Given the description of an element on the screen output the (x, y) to click on. 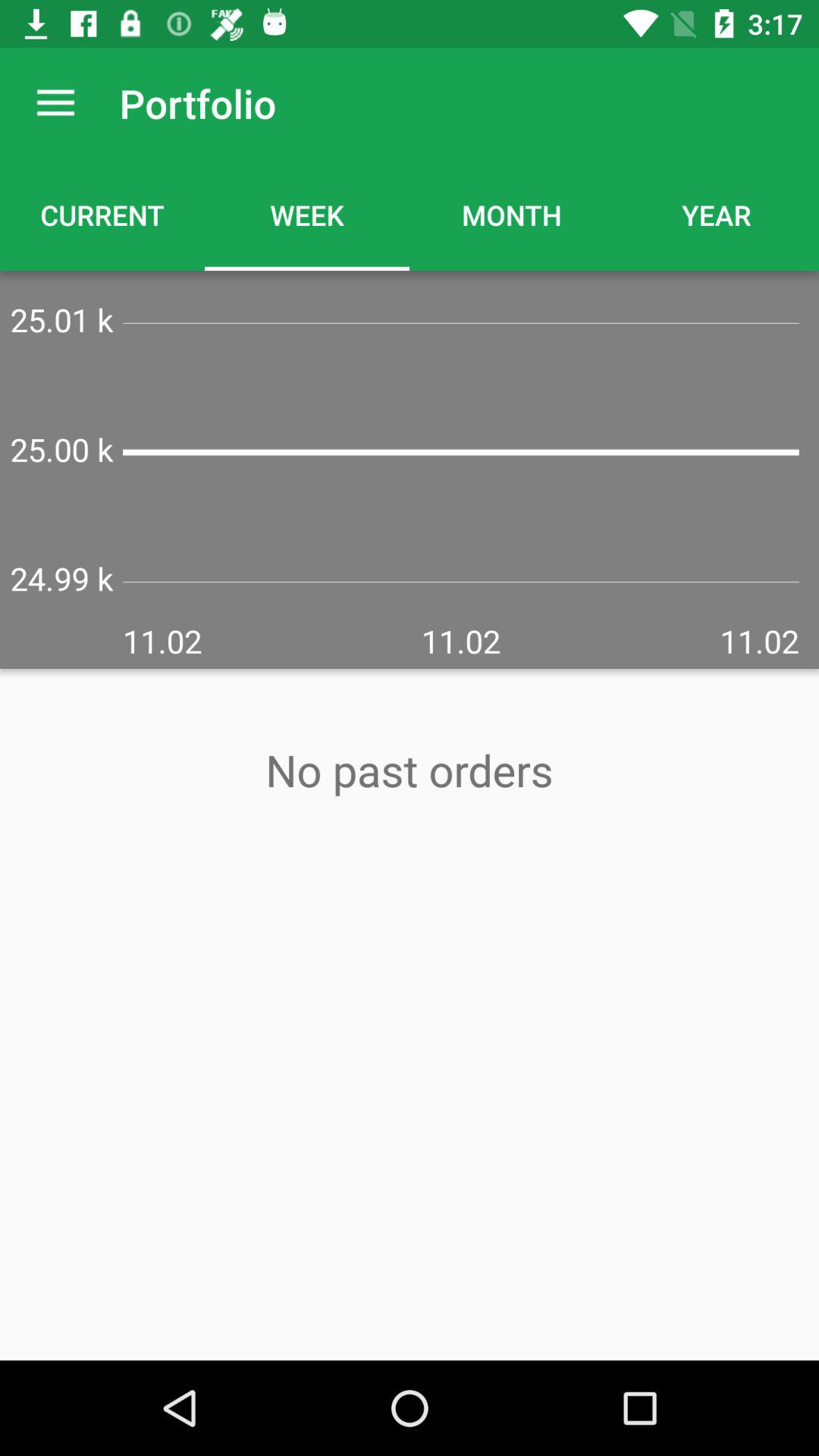
choose the item to the left of portfolio (55, 103)
